Given the description of an element on the screen output the (x, y) to click on. 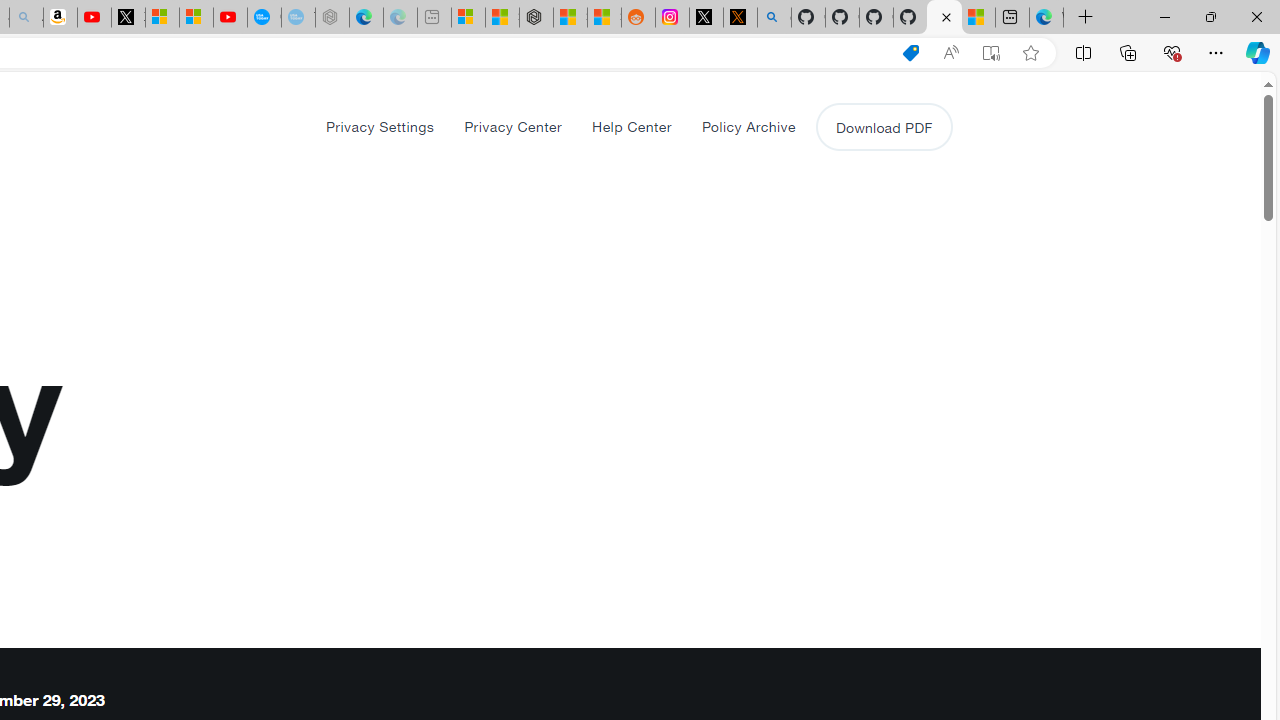
Privacy Center (513, 126)
help.x.com | 524: A timeout occurred (740, 17)
Amazon Echo Dot PNG - Search Images - Sleeping (26, 17)
Privacy Settings (379, 126)
Welcome to Microsoft Edge (1046, 17)
Policy Archive (748, 126)
